Given the description of an element on the screen output the (x, y) to click on. 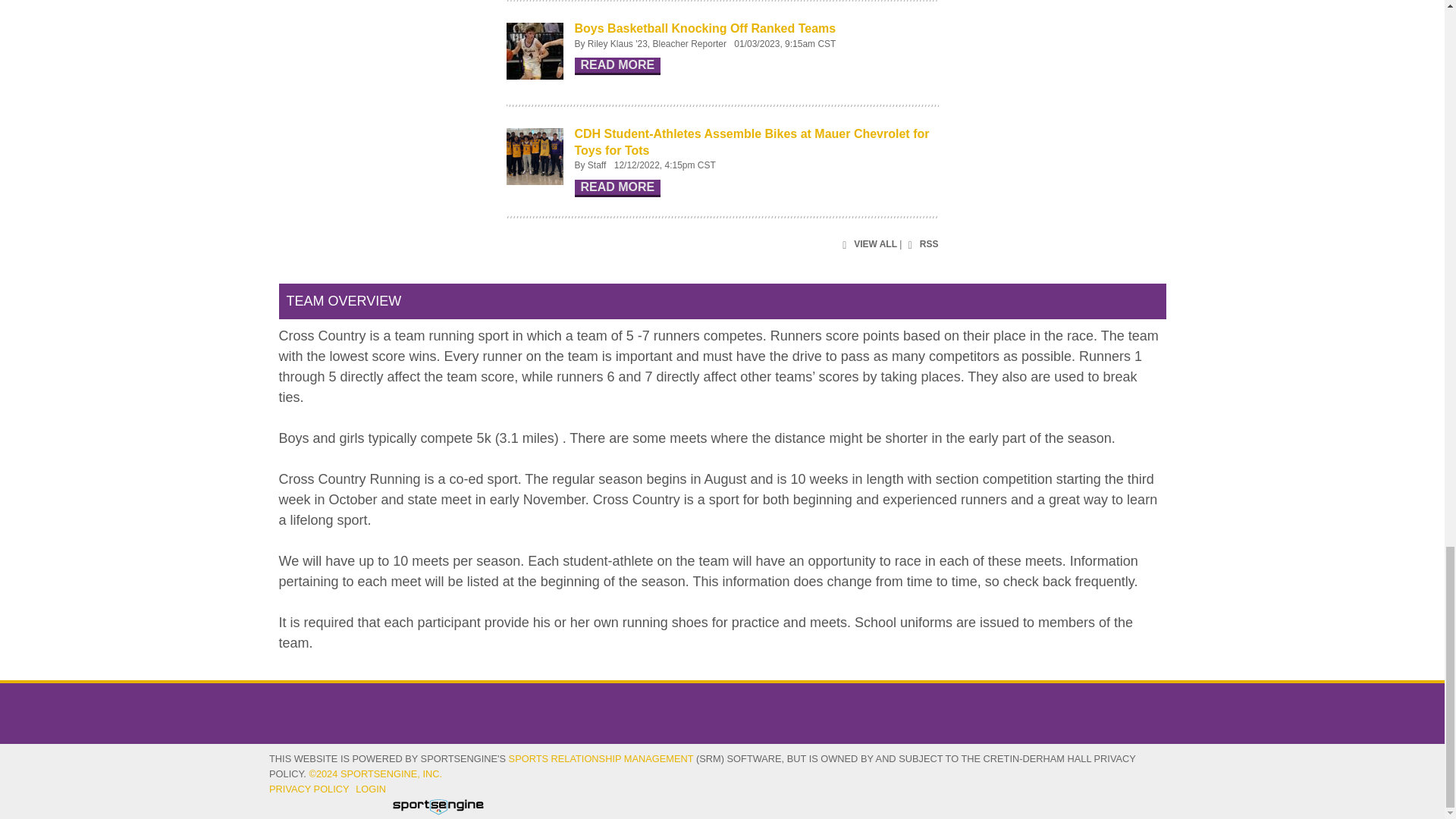
Subscribe to RSS Feed (921, 245)
View All (867, 245)
